Given the description of an element on the screen output the (x, y) to click on. 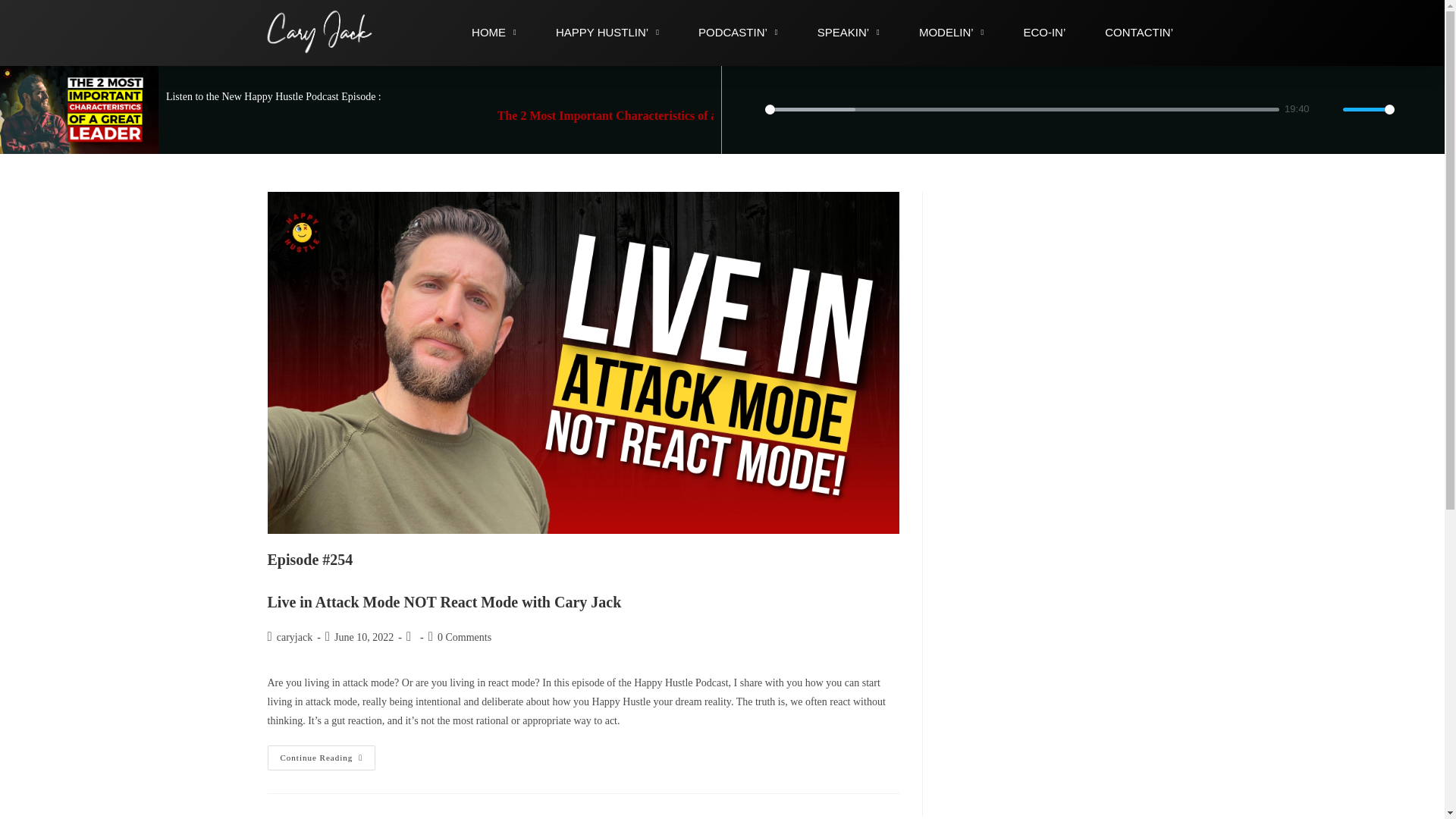
HOME (493, 32)
Posts by caryjack (294, 636)
0 (1021, 109)
1 (1368, 109)
